Given the description of an element on the screen output the (x, y) to click on. 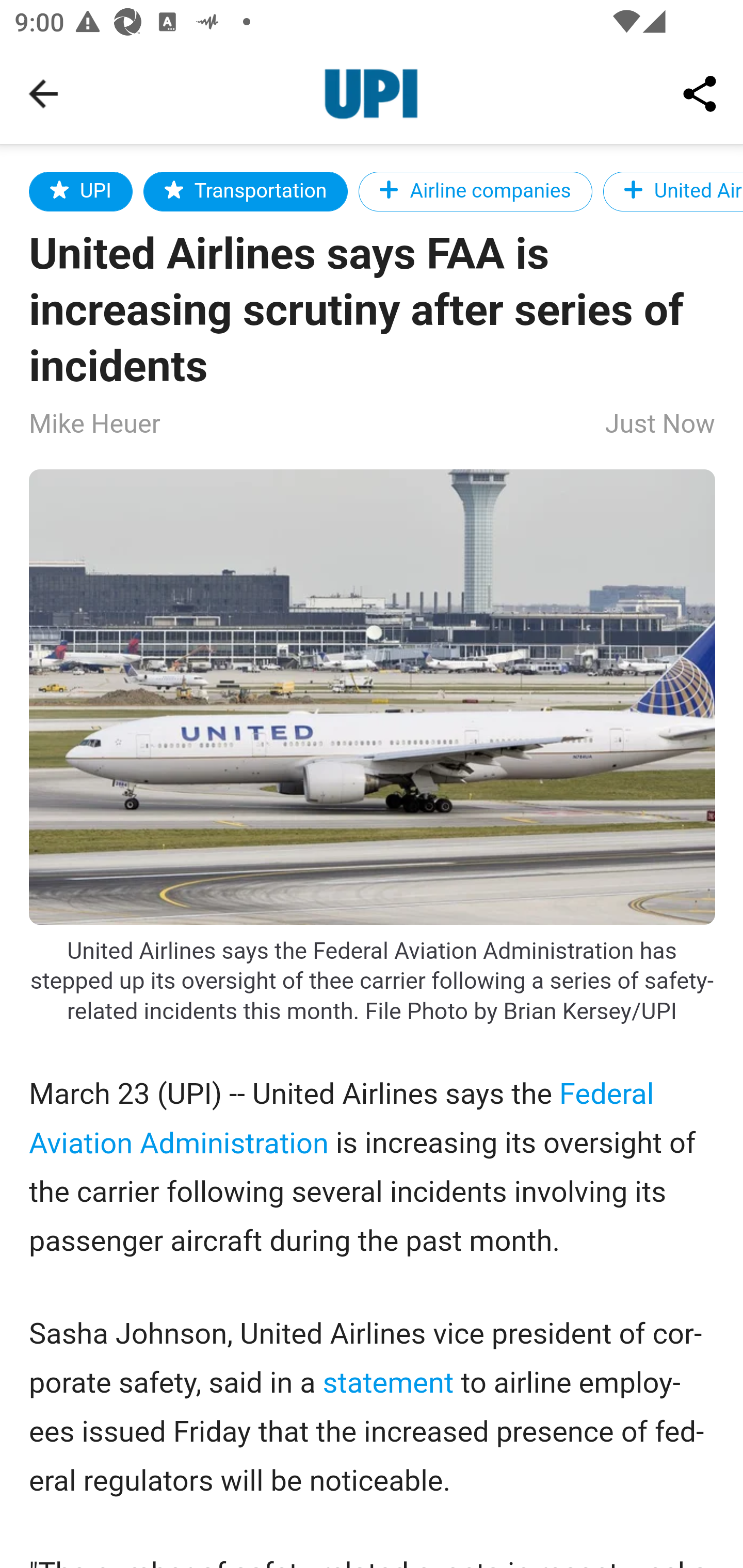
UPI (80, 191)
Transportation (245, 191)
Airline companies (474, 191)
United Airlines (672, 191)
Federal Aviation Administration (341, 1118)
statement (387, 1382)
